Given the description of an element on the screen output the (x, y) to click on. 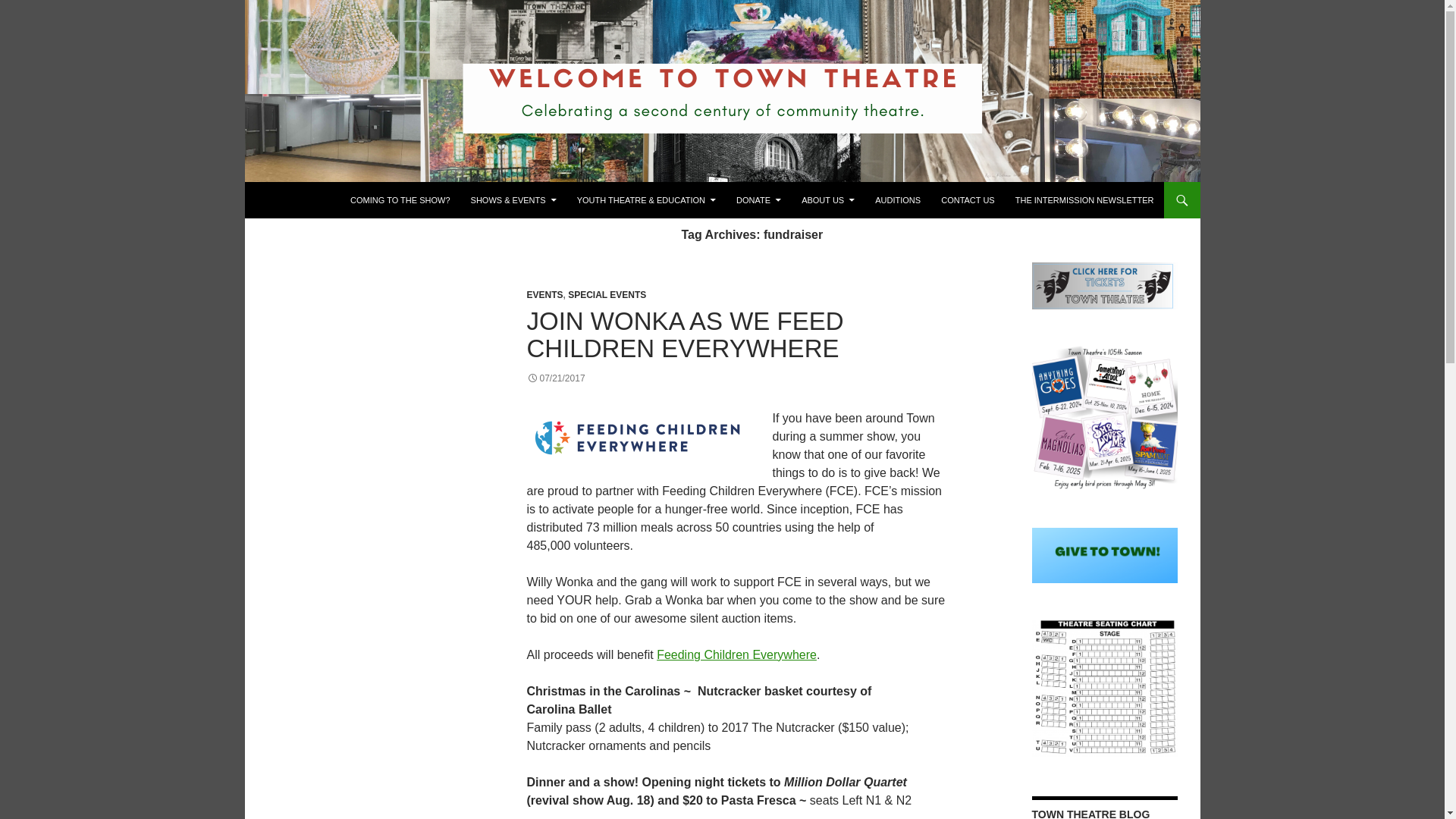
COMING TO THE SHOW? (399, 199)
DONATE (758, 199)
SPECIAL EVENTS (606, 294)
Feeding Children Everywhere (736, 654)
JOIN WONKA AS WE FEED CHILDREN EVERYWHERE (684, 334)
EVENTS (543, 294)
AUDITIONS (898, 199)
ABOUT US (827, 199)
CONTACT US (967, 199)
THE INTERMISSION NEWSLETTER (1084, 199)
Town Theatre (310, 199)
